Given the description of an element on the screen output the (x, y) to click on. 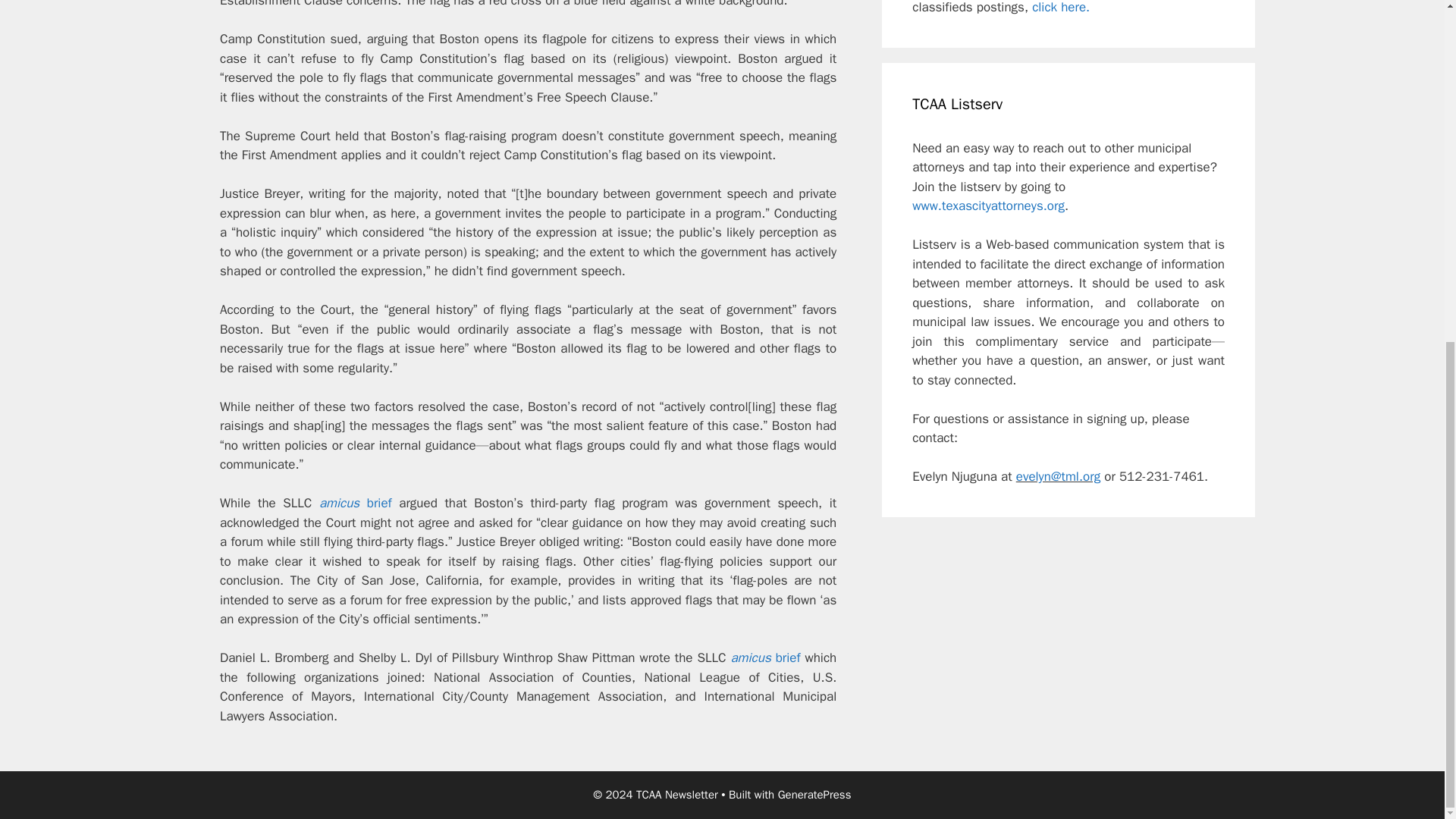
amicus brief (764, 657)
amicus brief (354, 503)
